Given the description of an element on the screen output the (x, y) to click on. 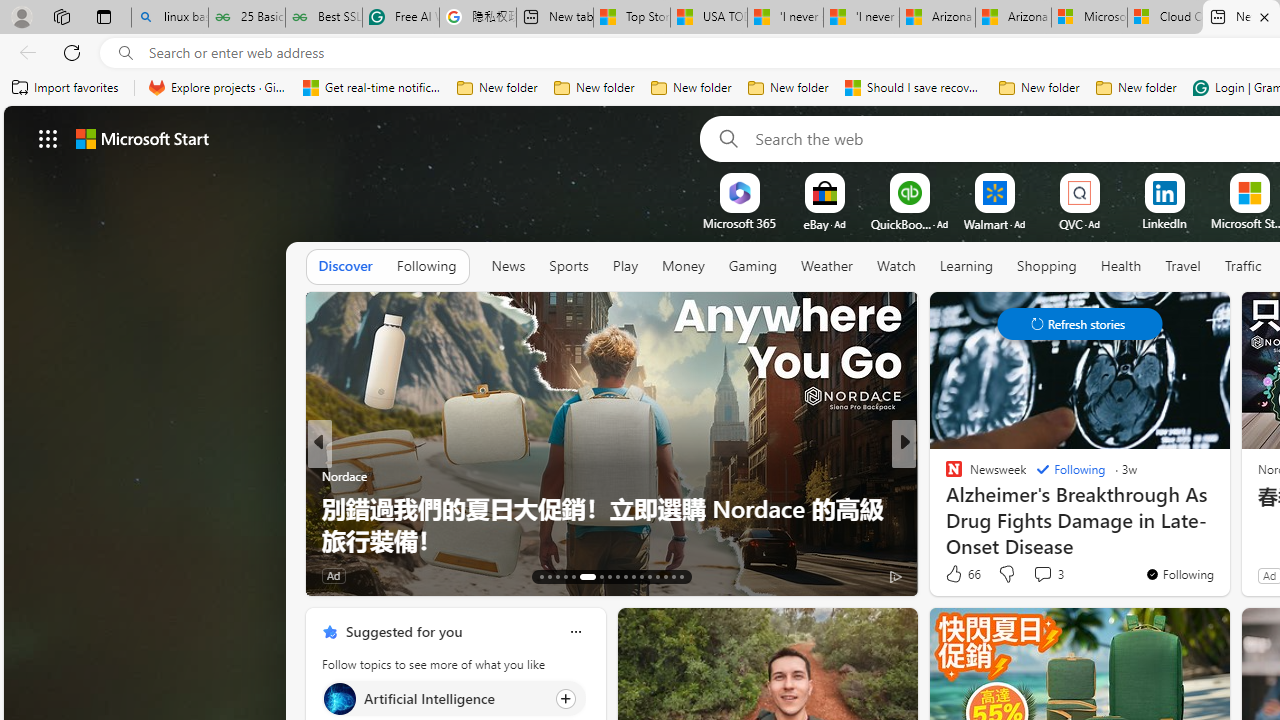
AutomationID: tab-26 (656, 576)
View comments 26 Comment (1051, 574)
Microsoft start (142, 138)
66 Like (961, 574)
Reader's Digest (944, 475)
Sports (569, 267)
Traffic (1242, 267)
328 Like (959, 574)
View comments 2 Comment (1041, 574)
TODAY (944, 475)
View comments 115 Comment (1042, 575)
Health (1121, 265)
